Given the description of an element on the screen output the (x, y) to click on. 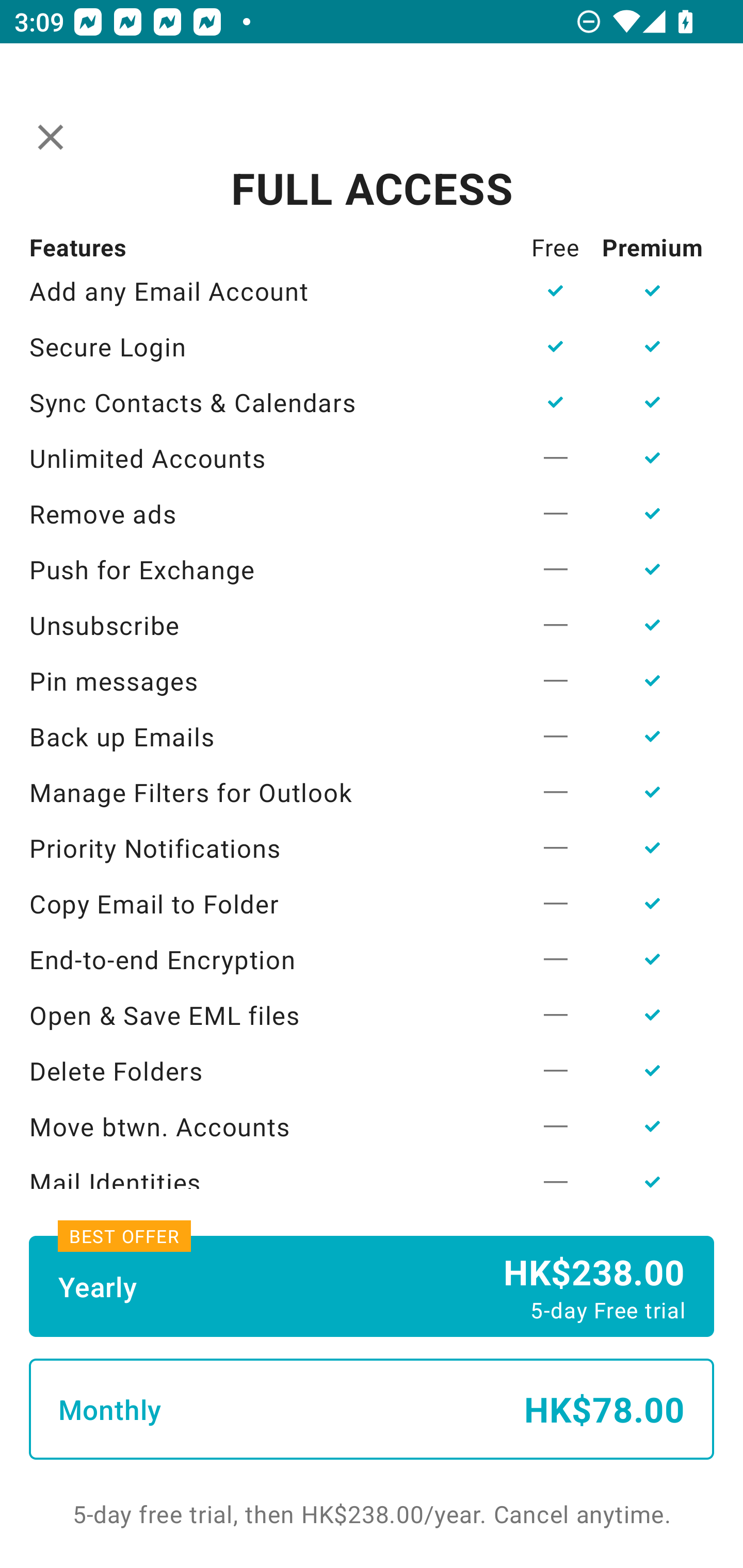
Yearly HK$238.00 5-day Free trial (371, 1286)
Monthly HK$78.00 (371, 1408)
